Given the description of an element on the screen output the (x, y) to click on. 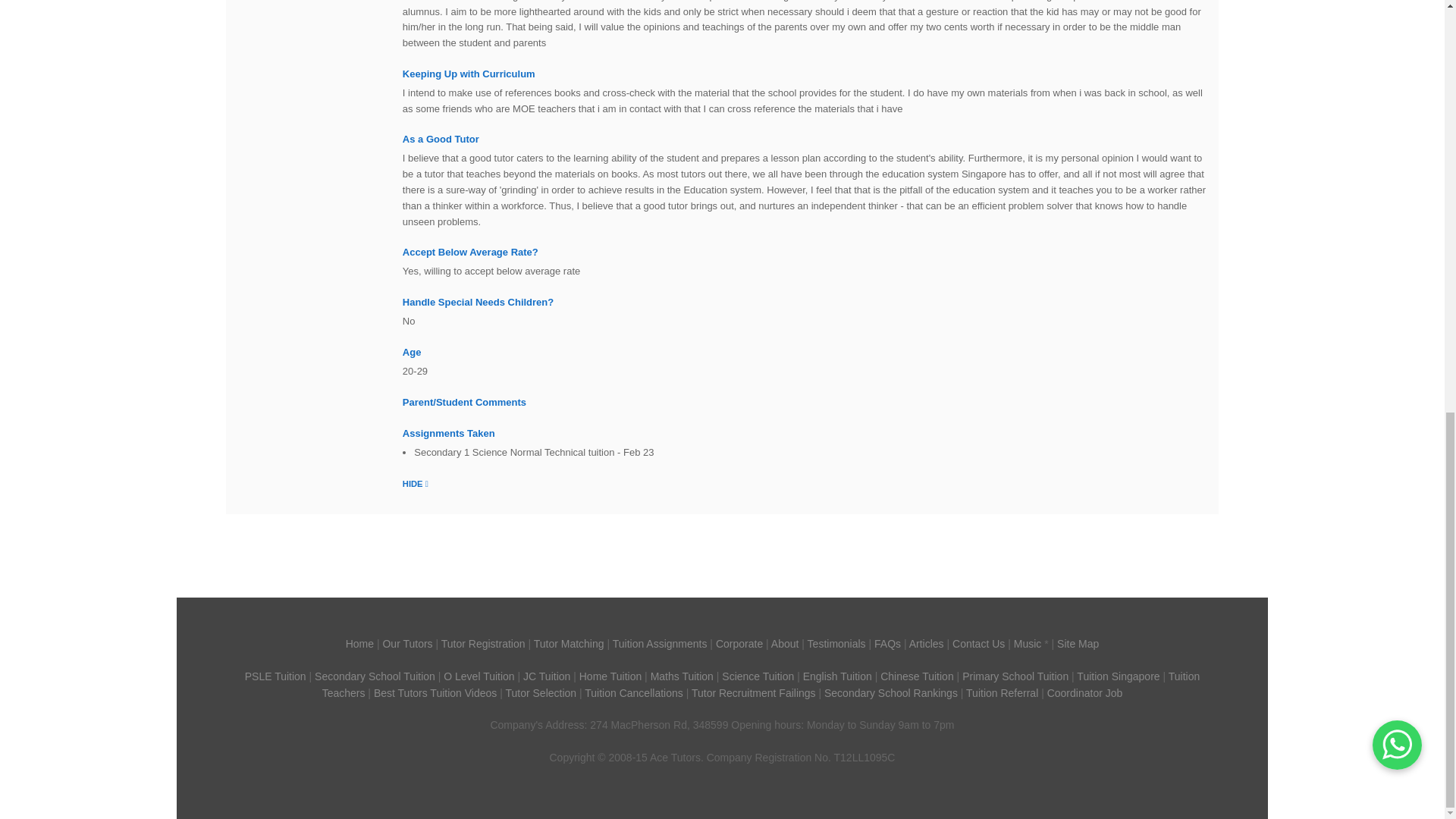
Our Tutors (406, 644)
HIDE (415, 482)
Home (360, 644)
Testimonials (837, 644)
Tuition Assignments (659, 644)
About (785, 644)
Tutor Matching (569, 644)
FAQs (888, 644)
Tutor Registration (483, 644)
Corporate (739, 644)
